Given the description of an element on the screen output the (x, y) to click on. 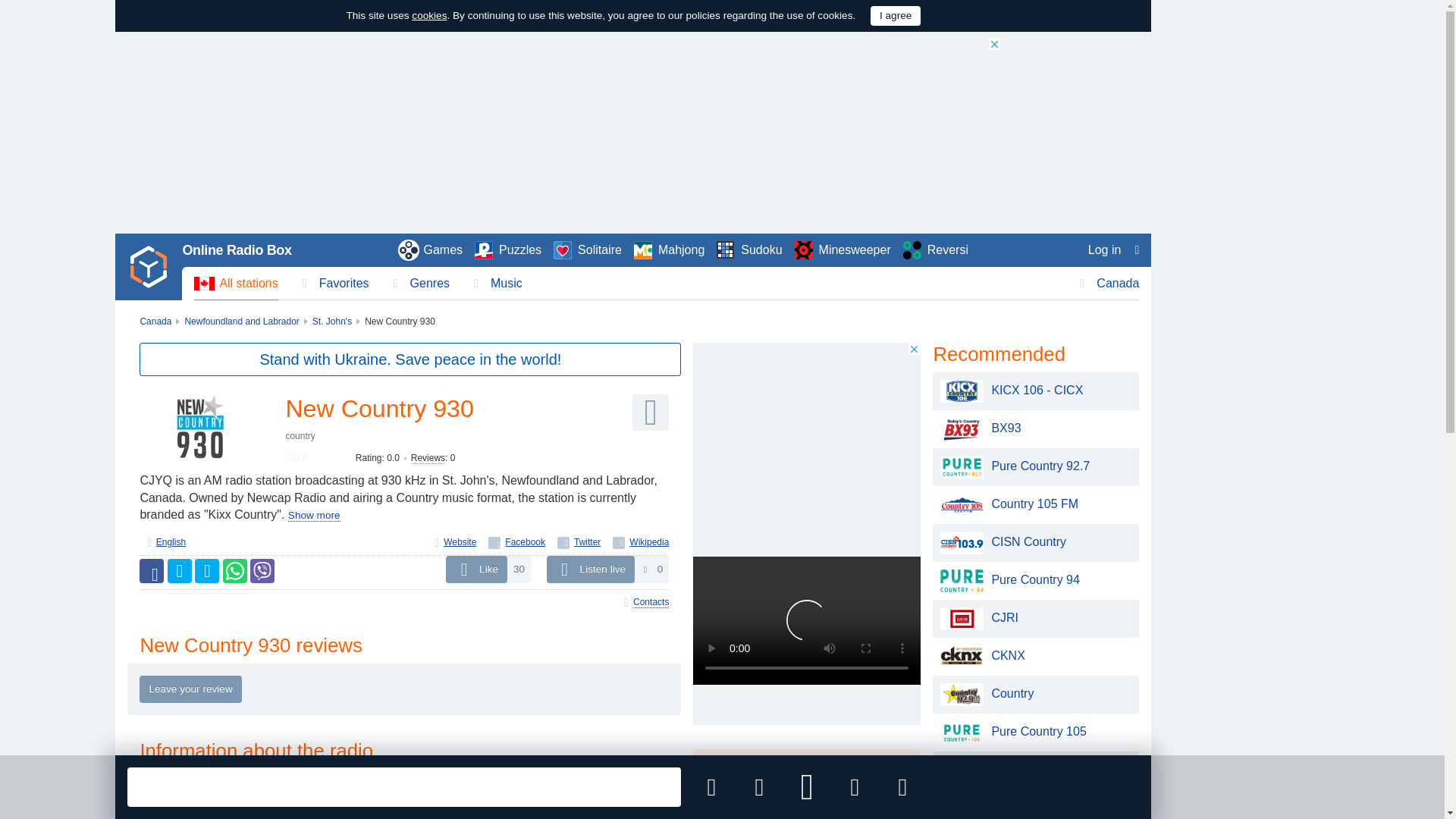
Minesweeper (842, 249)
Mahjong (668, 249)
Online Radio Box (236, 249)
Next station (853, 787)
Add to my favorites (711, 787)
English (170, 542)
Puzzles (507, 249)
Twitter (578, 542)
I agree (895, 15)
Previous station (759, 787)
Wikipedia (640, 542)
Games (430, 249)
All stations (235, 283)
Newfoundland and Labrador (241, 321)
